Given the description of an element on the screen output the (x, y) to click on. 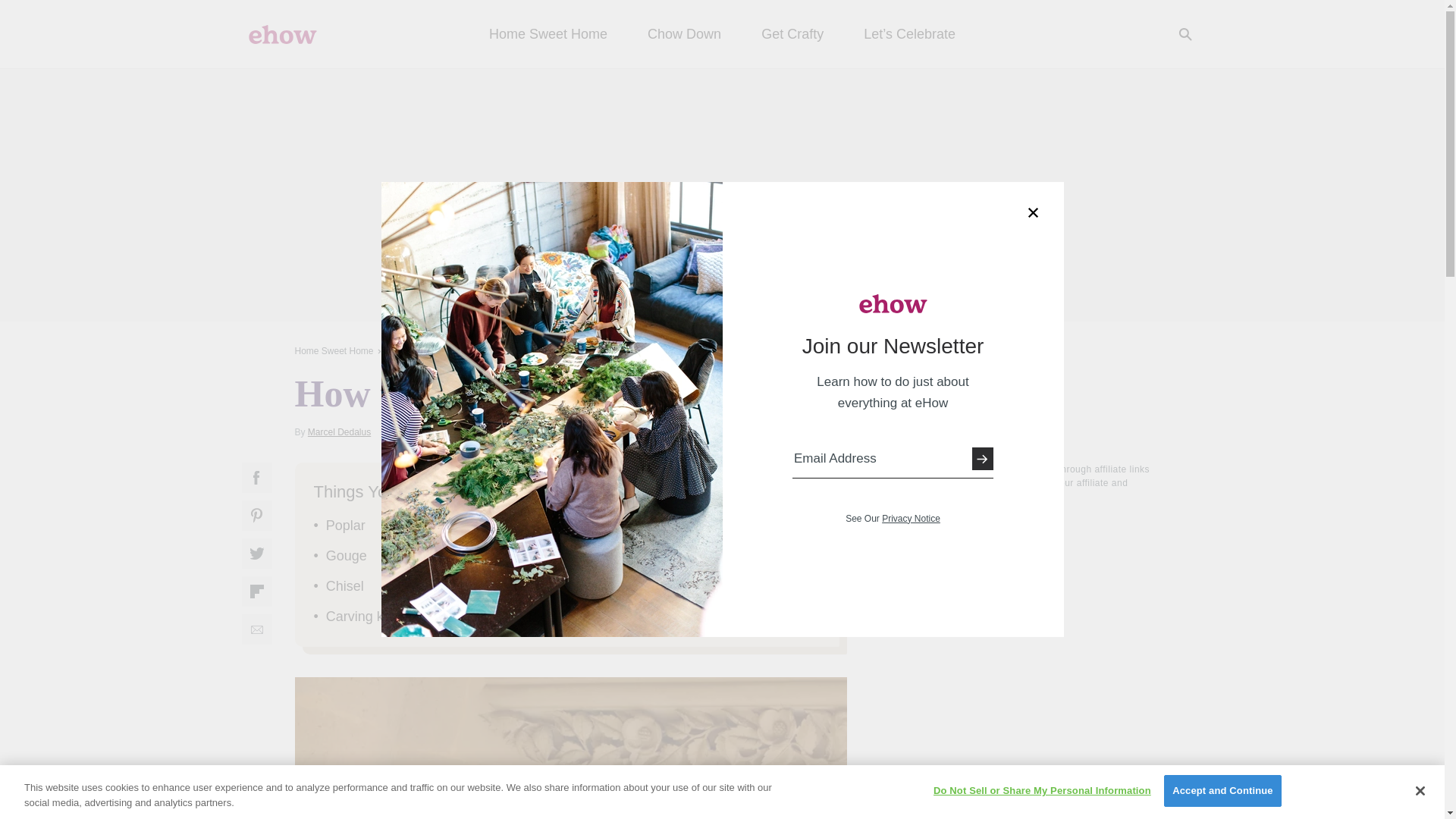
3rd party ad content (1035, 609)
Learn more about our affiliate and product review process (1036, 496)
3rd party ad content (721, 194)
